Given the description of an element on the screen output the (x, y) to click on. 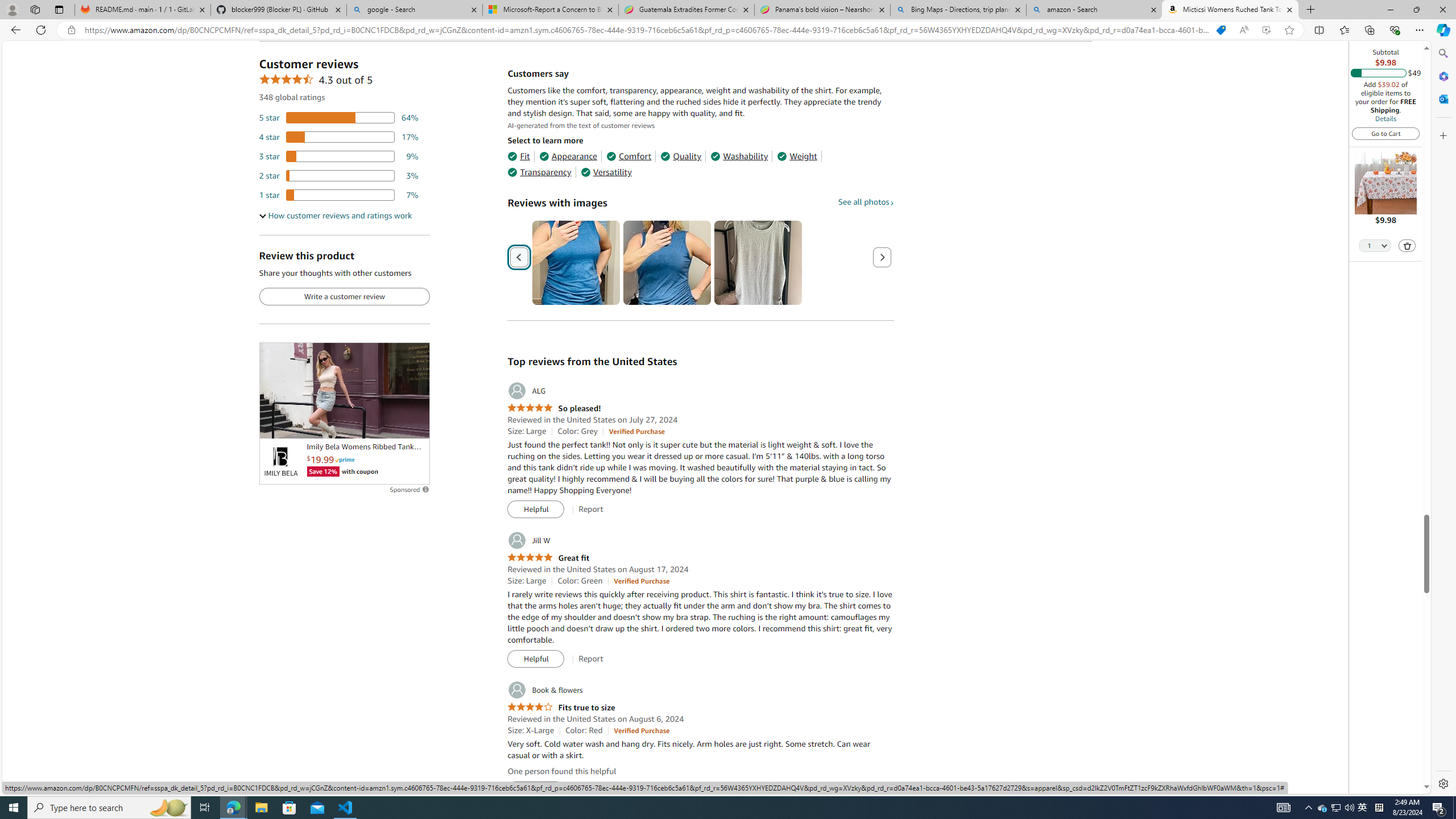
Write a customer review (344, 296)
Washability (739, 156)
Enhance video (1266, 29)
Pause (273, 424)
Versatility (605, 172)
7 percent of reviews have 1 stars (339, 195)
Verified Purchase (640, 730)
9 percent of reviews have 3 stars (339, 156)
5.0 out of 5 stars Great fit (547, 557)
How customer reviews and ratings work (335, 215)
